Given the description of an element on the screen output the (x, y) to click on. 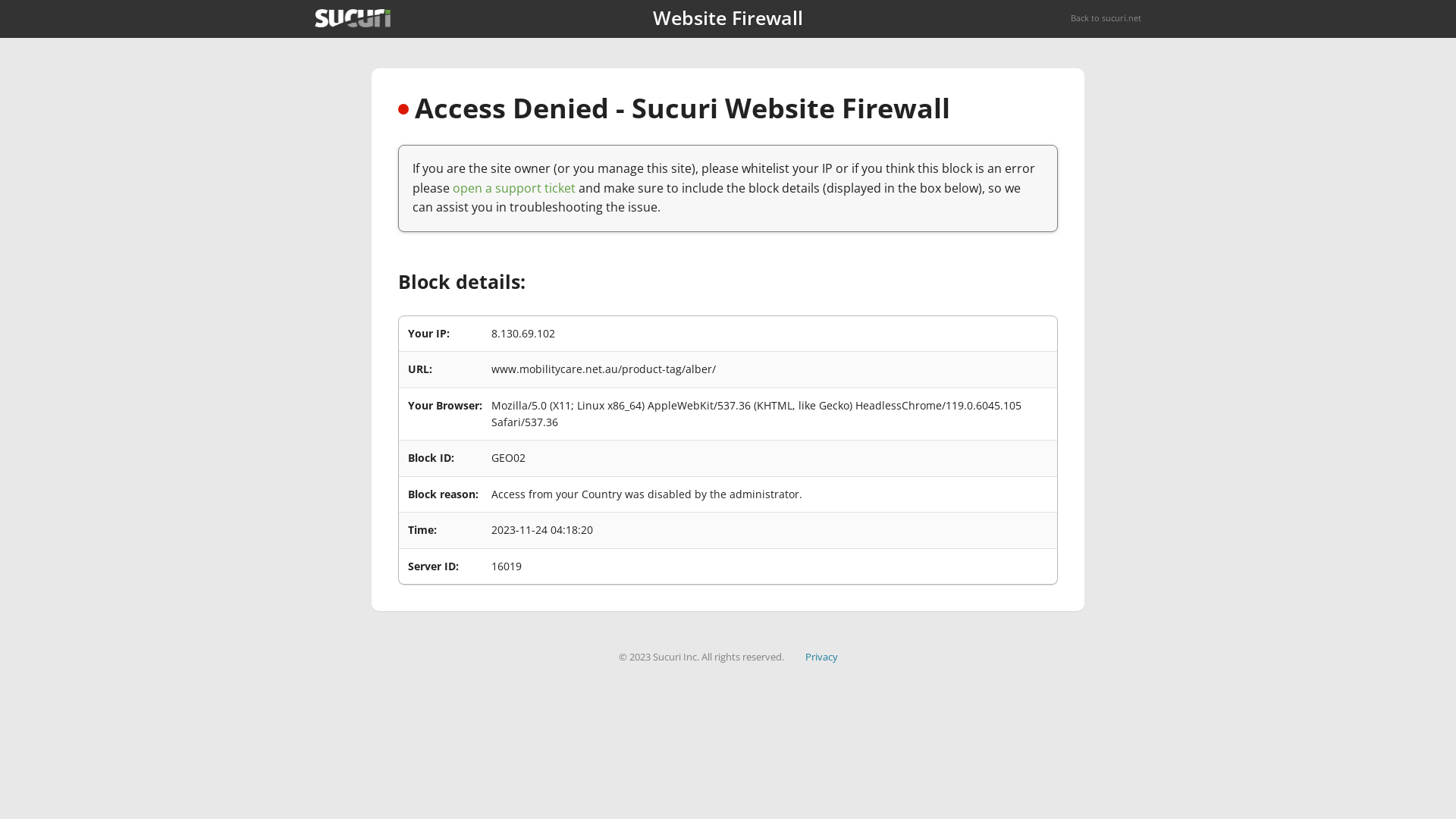
Back to sucuri.net Element type: text (1105, 18)
Privacy Element type: text (821, 656)
open a support ticket Element type: text (513, 187)
